Given the description of an element on the screen output the (x, y) to click on. 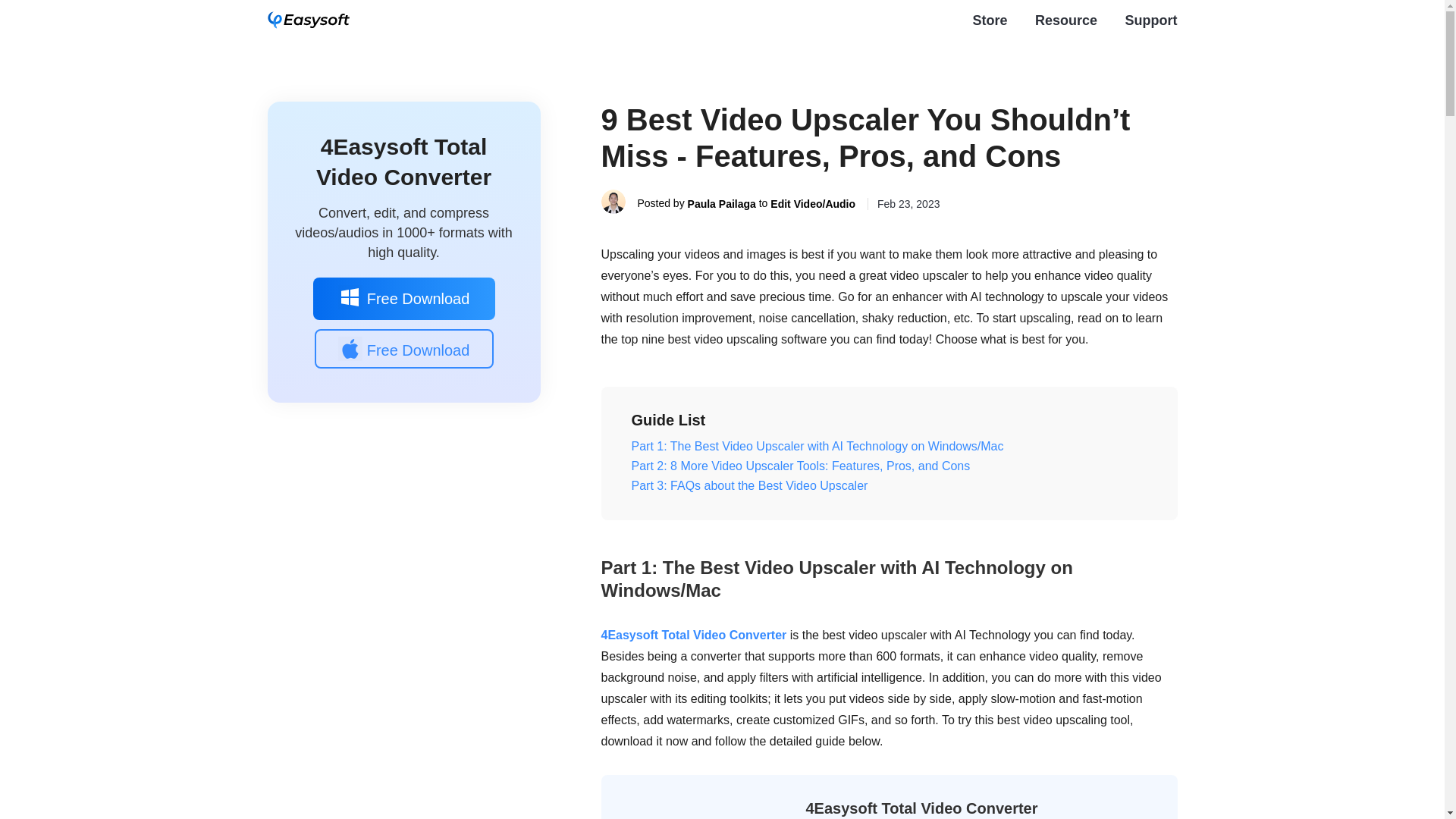
Paula Pailaga (721, 203)
4Easysoft Total Video Converter (920, 808)
Resource (1066, 19)
Part 3: FAQs about the Best Video Upscaler (888, 485)
Store (989, 19)
Free Download (404, 298)
Free Download (403, 348)
4Easysoft Total Video Converter (403, 161)
Support (1151, 19)
